Given the description of an element on the screen output the (x, y) to click on. 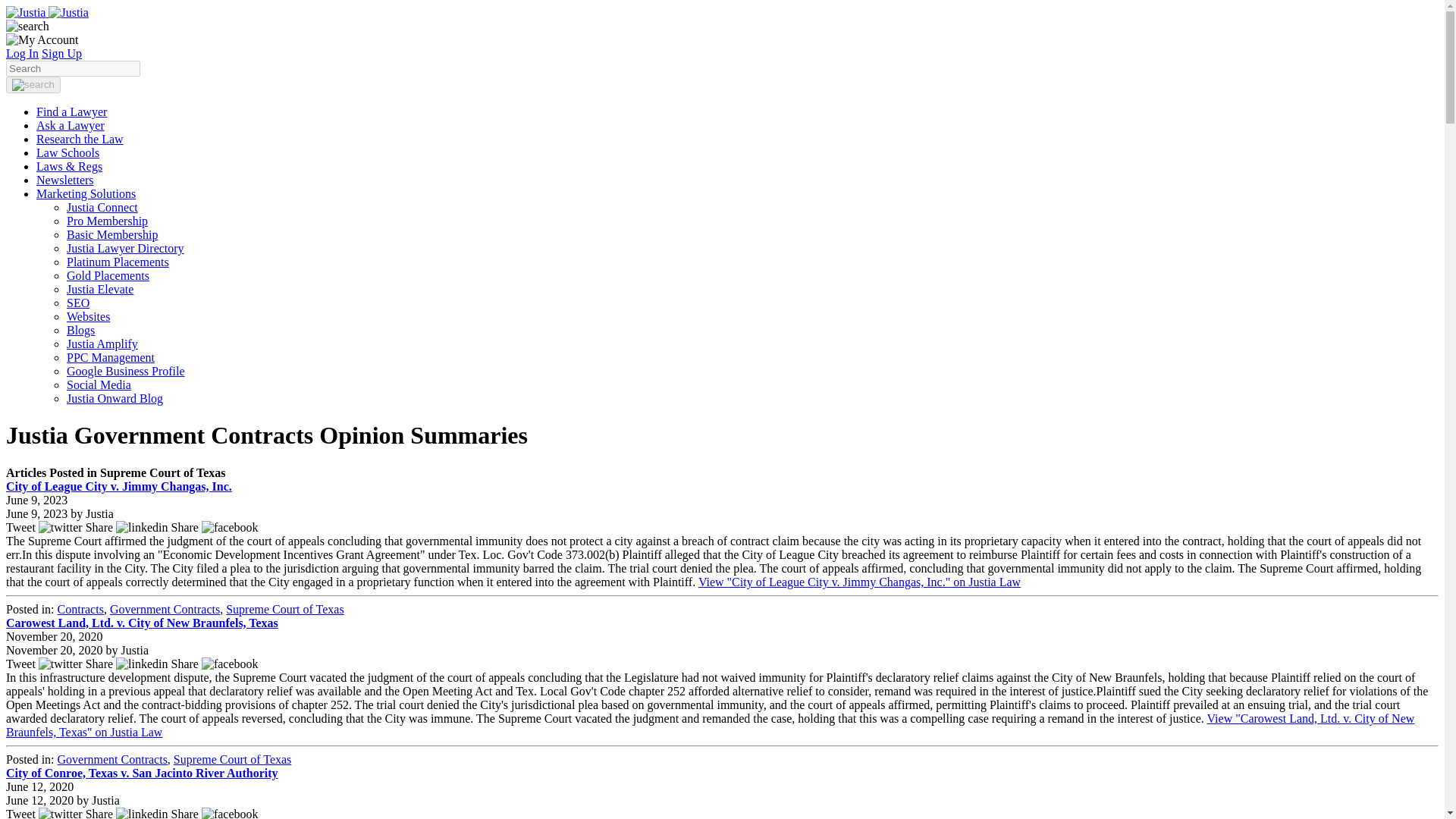
Justia Government Contracts Opinion Summaries (46, 11)
Google Business Profile (125, 370)
Share (215, 526)
Justia Onward Blog (114, 398)
Carowest Land, Ltd. v. City of New Braunfels, Texas (141, 622)
Marketing Solutions (85, 193)
Pro Membership (107, 220)
Government Contracts (164, 608)
Blogs (80, 329)
Log In (22, 52)
